Given the description of an element on the screen output the (x, y) to click on. 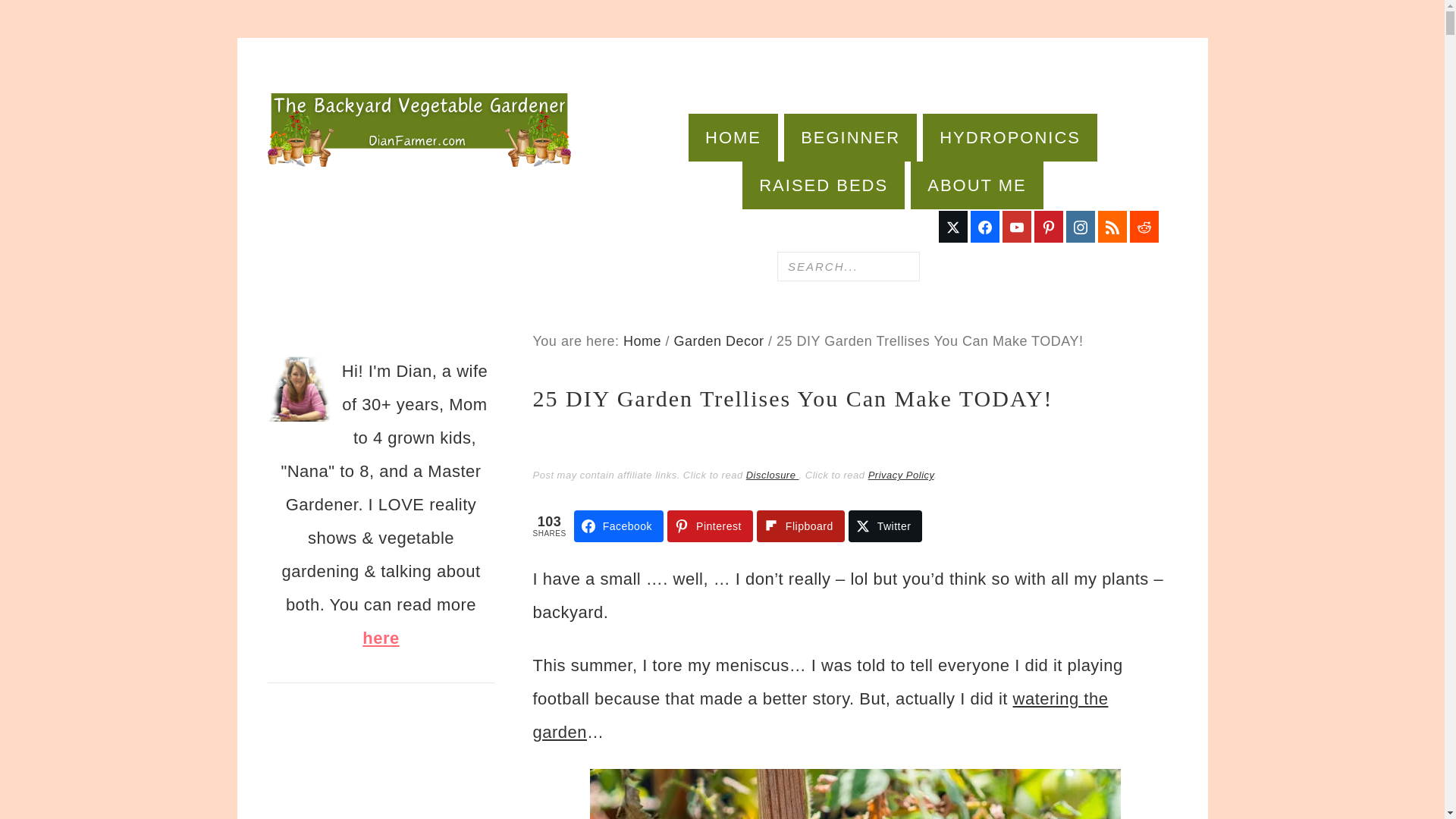
Share on Twitter (885, 526)
BEGINNER (850, 137)
Share on Flipboard (800, 526)
Share on Pinterest (709, 526)
Pinterest (709, 526)
Home (642, 340)
Facebook (618, 526)
Disclosure (772, 474)
BACKYARD VEGETABLE GARDENER (418, 128)
HYDROPONICS (1010, 137)
Garden Decor (717, 340)
watering the garden (820, 715)
